Given the description of an element on the screen output the (x, y) to click on. 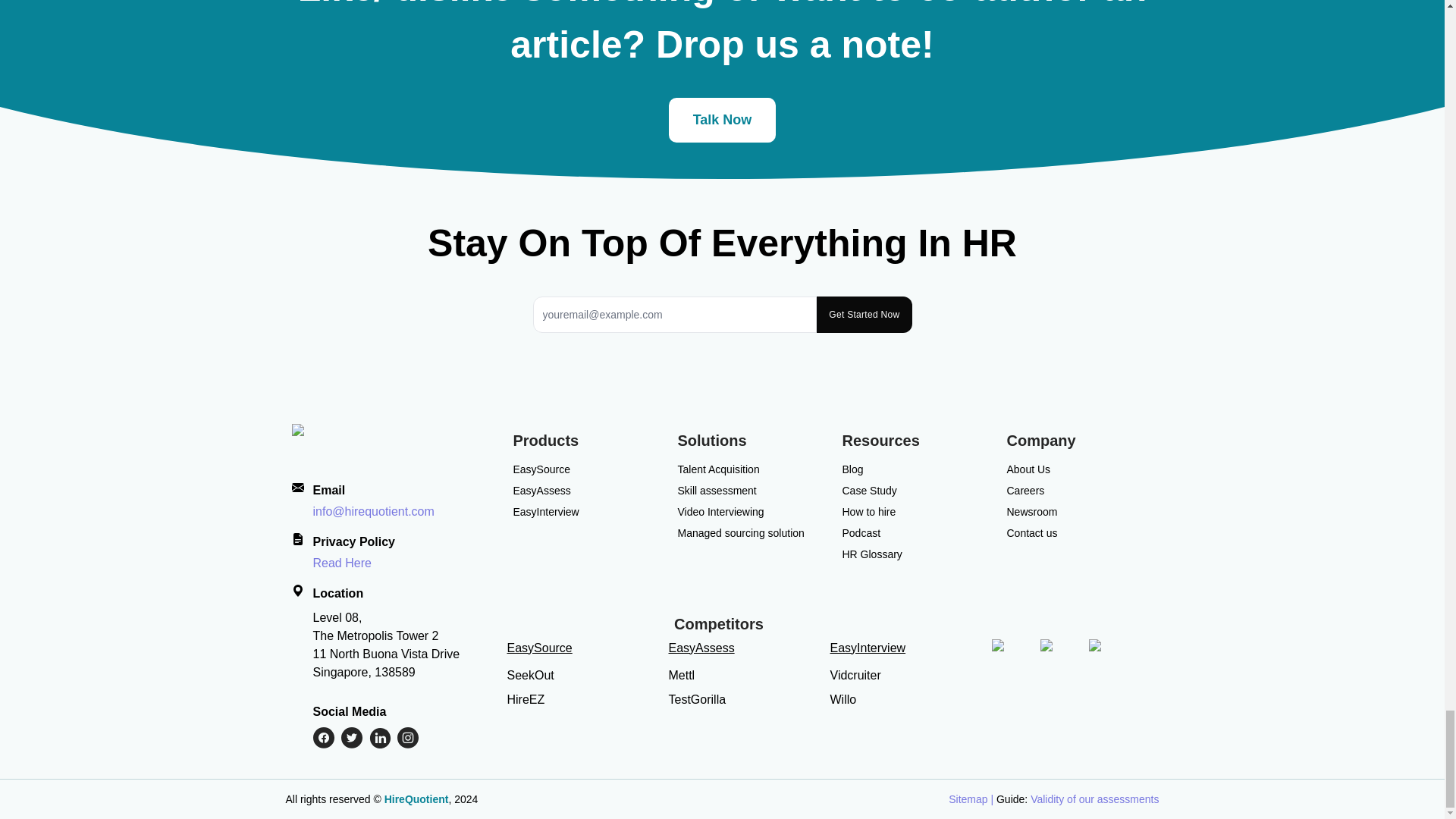
Skill assessment (717, 490)
Managed sourcing solution (741, 532)
EasyInterview (545, 511)
Read Here (342, 563)
Newsroom (1032, 511)
Contact us (1032, 532)
SeekOut (529, 675)
Talk Now (722, 119)
HR Glossary (871, 554)
Mettl (681, 675)
